Given the description of an element on the screen output the (x, y) to click on. 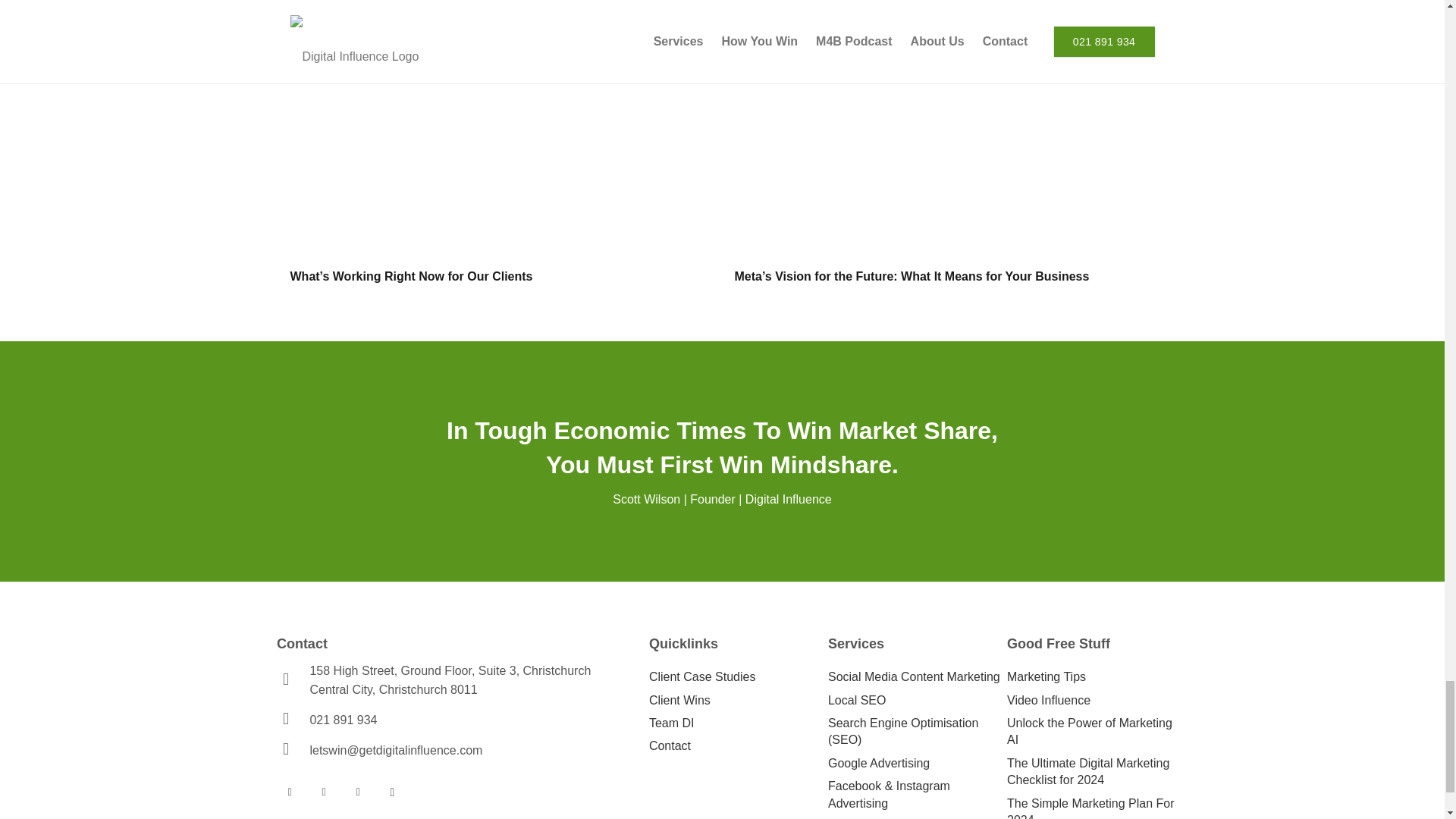
Instagram (392, 791)
YouTube (324, 791)
LinkedIn (358, 791)
Facebook (289, 791)
